Given the description of an element on the screen output the (x, y) to click on. 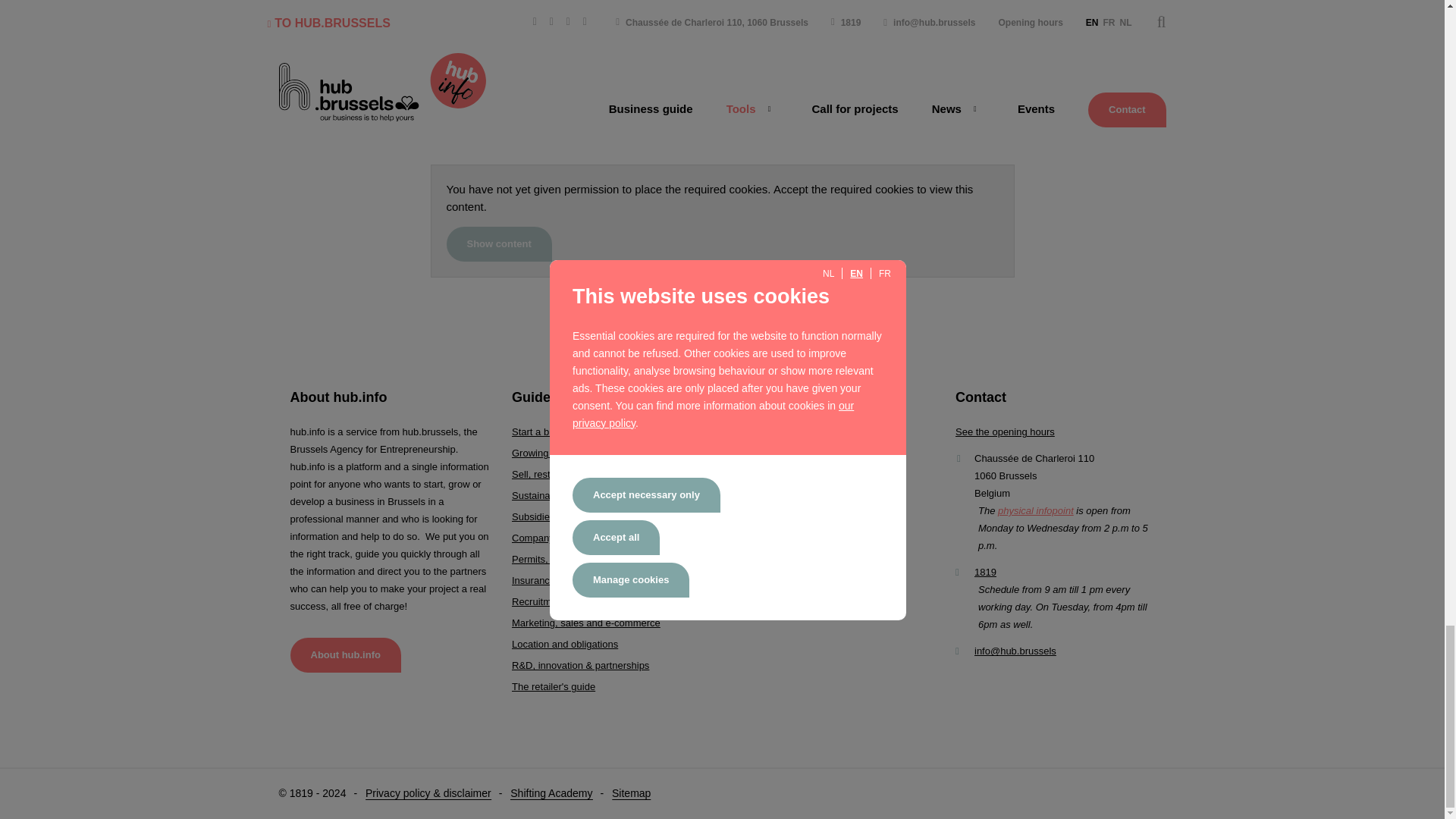
Contact (1035, 510)
